Given the description of an element on the screen output the (x, y) to click on. 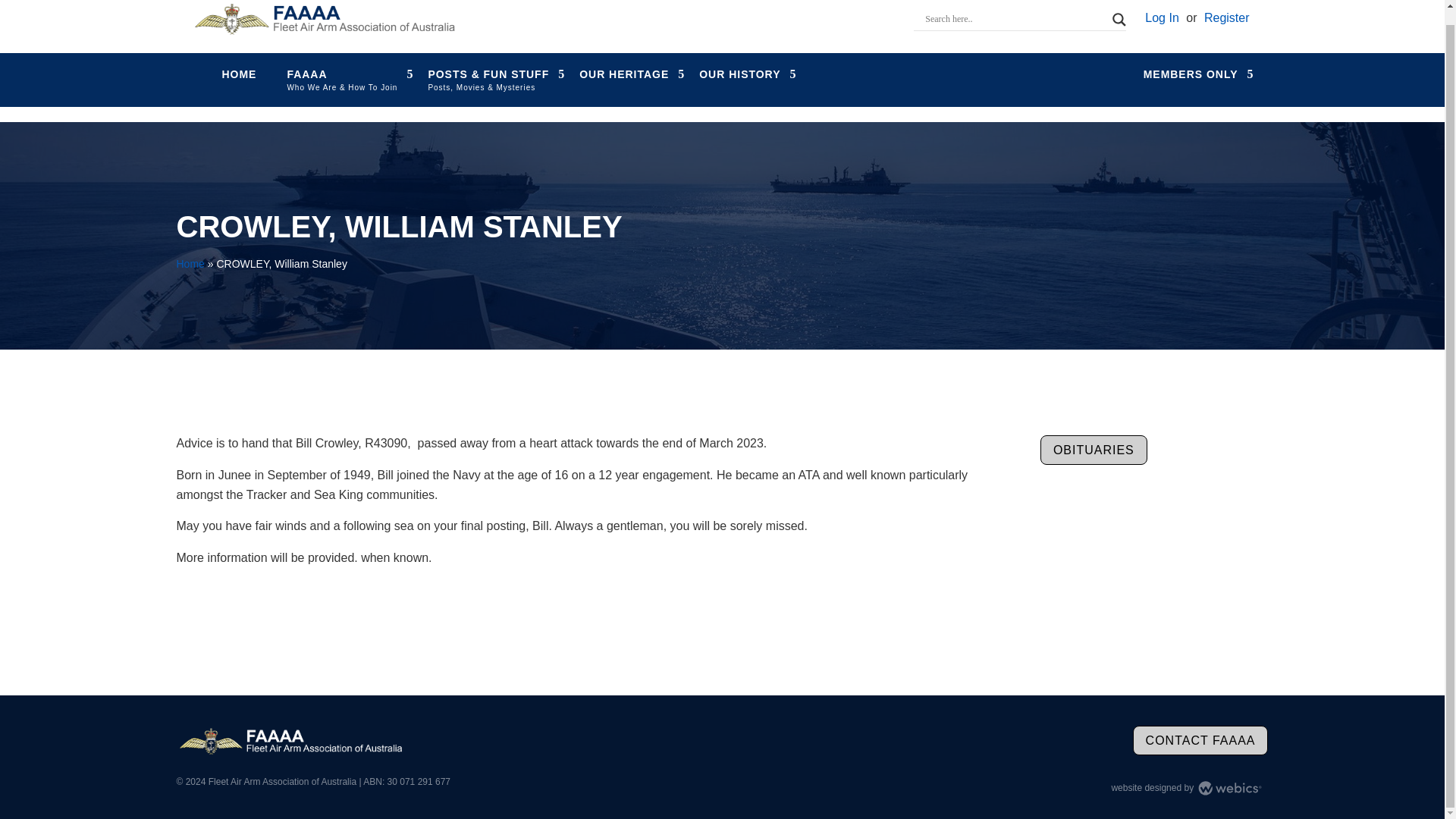
Register (1226, 17)
OUR HERITAGE (623, 73)
Log In (1160, 17)
HOME (238, 73)
faaaa-logo-footer (289, 741)
